Given the description of an element on the screen output the (x, y) to click on. 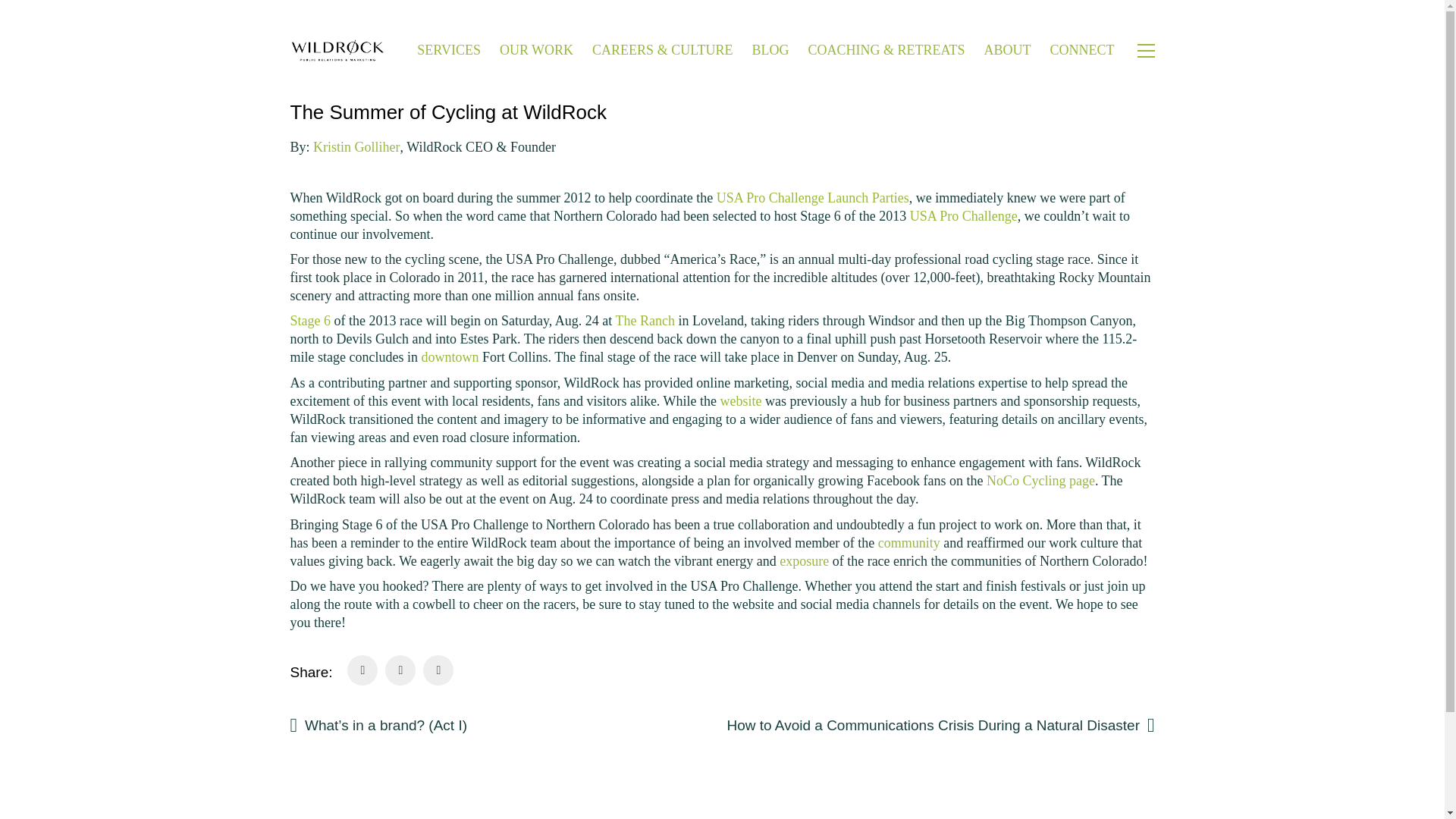
USA Pro Challenge (963, 215)
BLOG (770, 49)
downtown (449, 356)
Kristin Golliher (356, 146)
NoCo Cycling page (1040, 480)
website (740, 400)
downtown  (449, 356)
SERVICES (448, 49)
The Ranch (644, 320)
OUR WORK (536, 49)
